Given the description of an element on the screen output the (x, y) to click on. 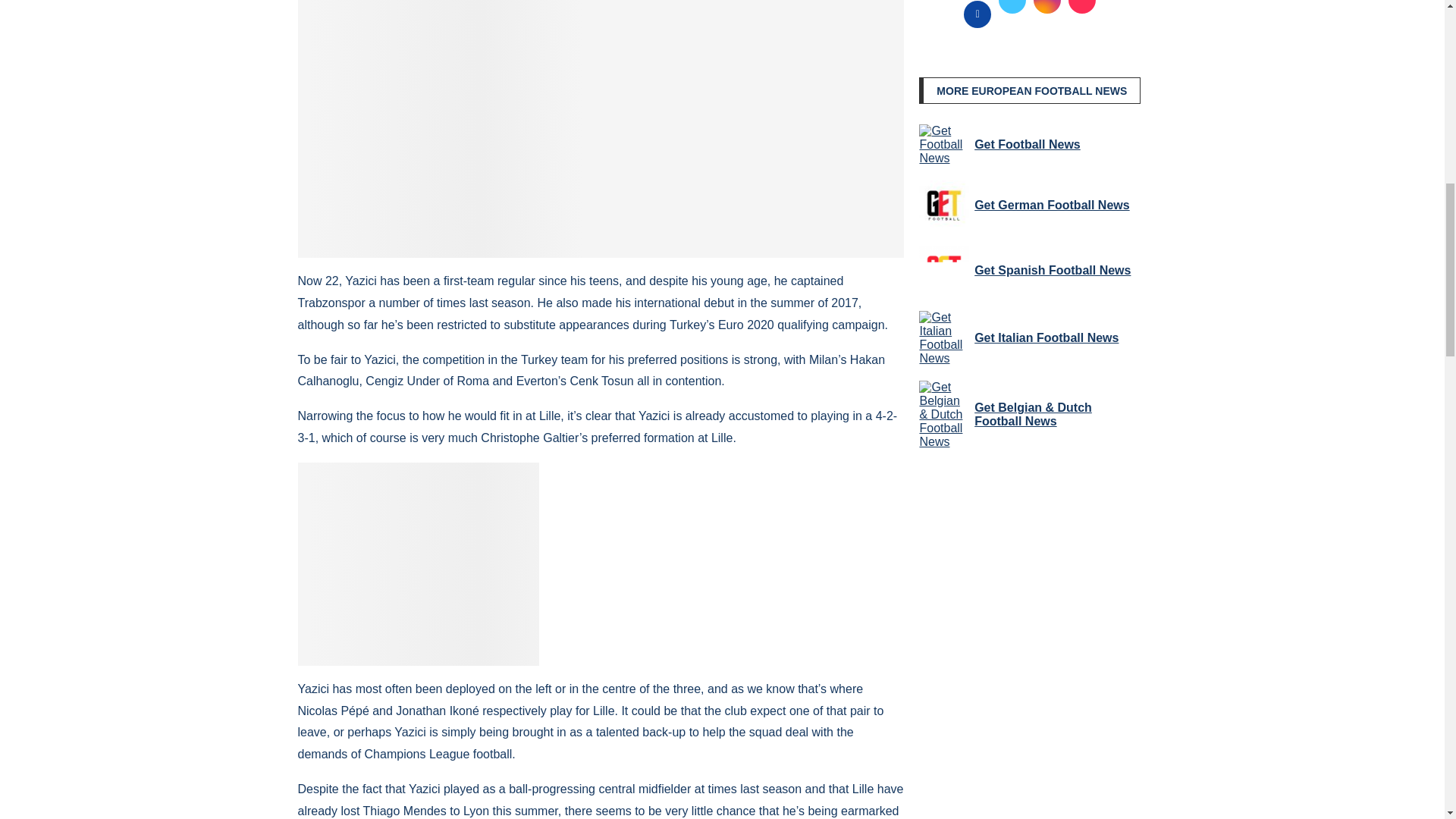
Get German Football News (943, 205)
Get Spanish Football News (943, 270)
Get Football News (943, 144)
Get Italian Football News (943, 338)
